Given the description of an element on the screen output the (x, y) to click on. 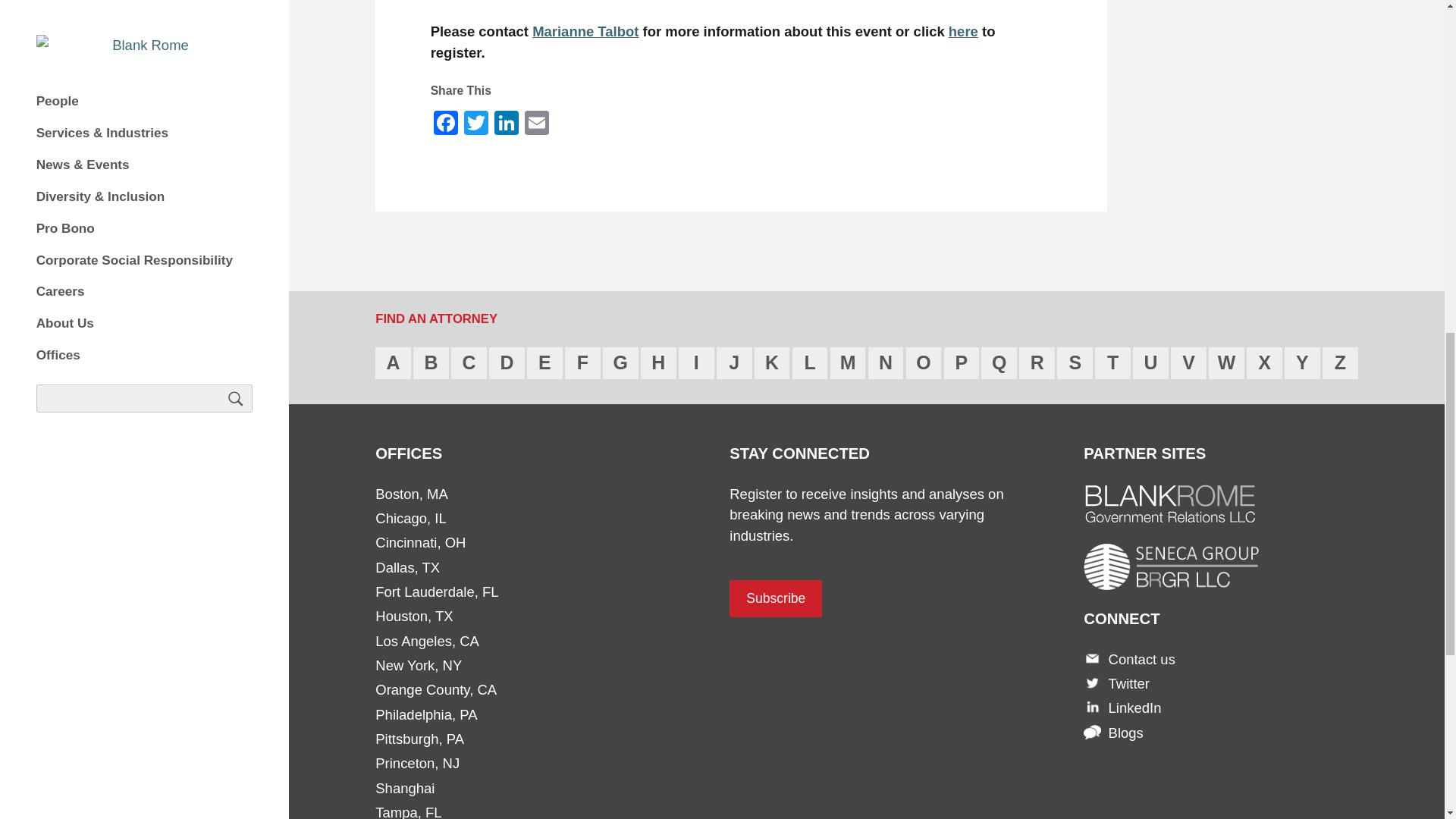
B (430, 363)
Marianne Talbot (585, 31)
A (392, 363)
Facebook (445, 121)
Email (536, 121)
Twitter (476, 121)
LinkedIn (506, 121)
here (963, 31)
